Given the description of an element on the screen output the (x, y) to click on. 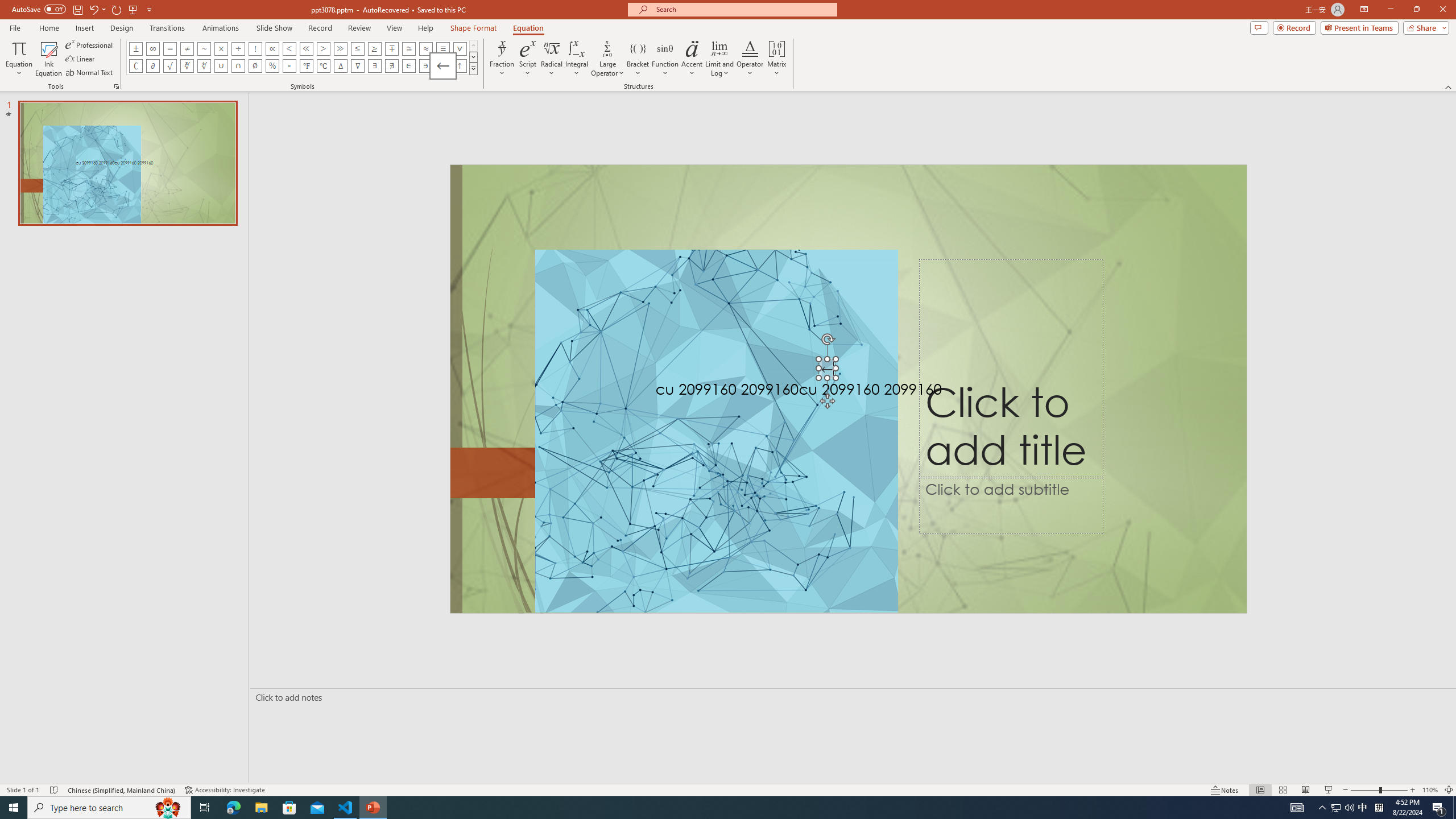
Equation Symbol Nabla (357, 65)
Shape Format (473, 28)
Zoom 110% (1430, 790)
Equation Symbol Degrees (289, 65)
Radical (552, 58)
Equation Symbol Left Arrow (443, 65)
Equation Symbol Multiplication Sign (221, 48)
Equation Symbols (472, 68)
